Given the description of an element on the screen output the (x, y) to click on. 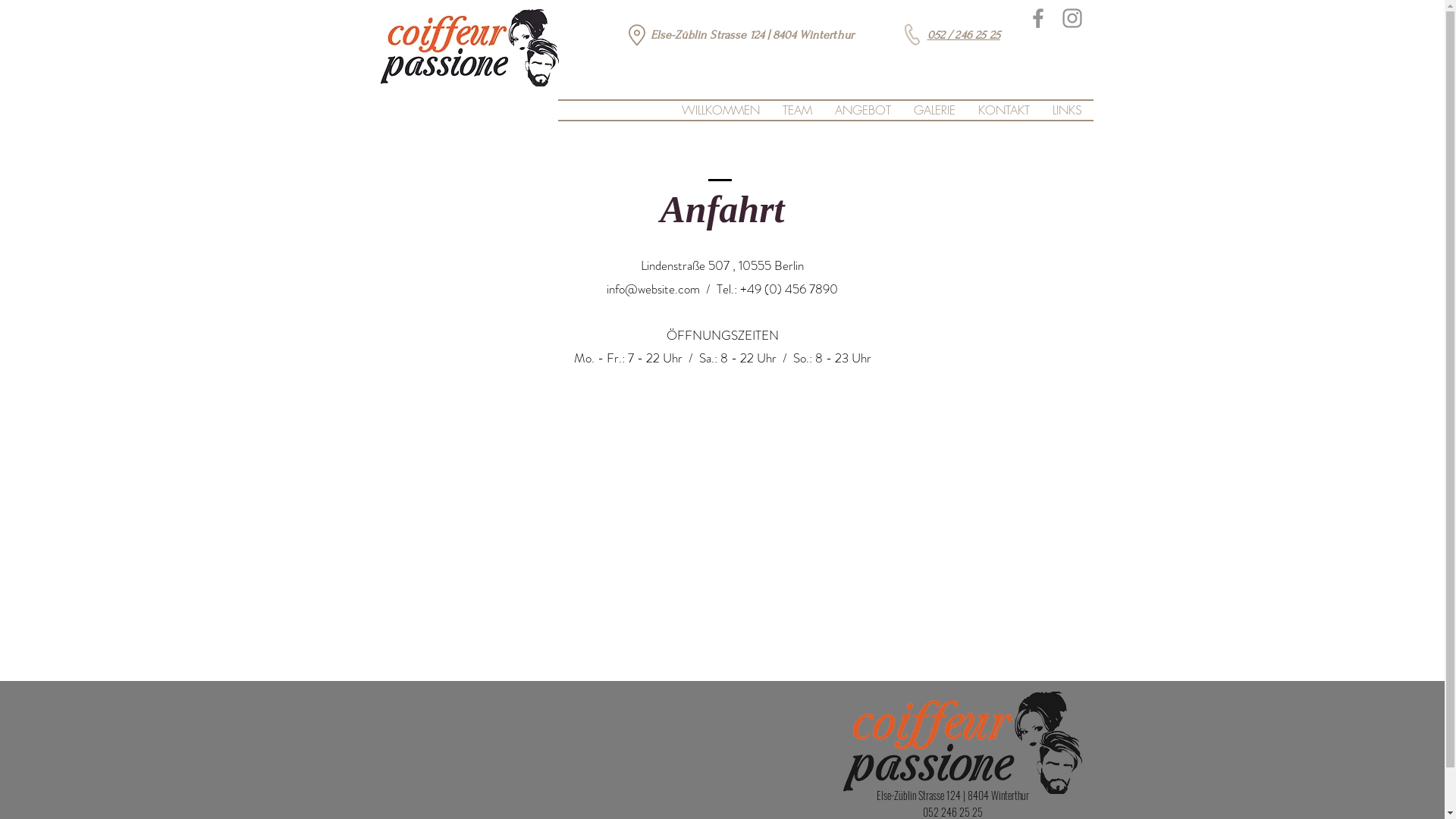
KONTAKT Element type: text (1003, 109)
GALERIE Element type: text (934, 109)
ANGEBOT Element type: text (862, 109)
052 / 246 25 25 Element type: text (962, 34)
TEAM Element type: text (796, 109)
Google Maps Element type: hover (721, 517)
info@website.com Element type: text (652, 288)
LINKS Element type: text (1066, 109)
WILLKOMMEN Element type: text (720, 109)
